Given the description of an element on the screen output the (x, y) to click on. 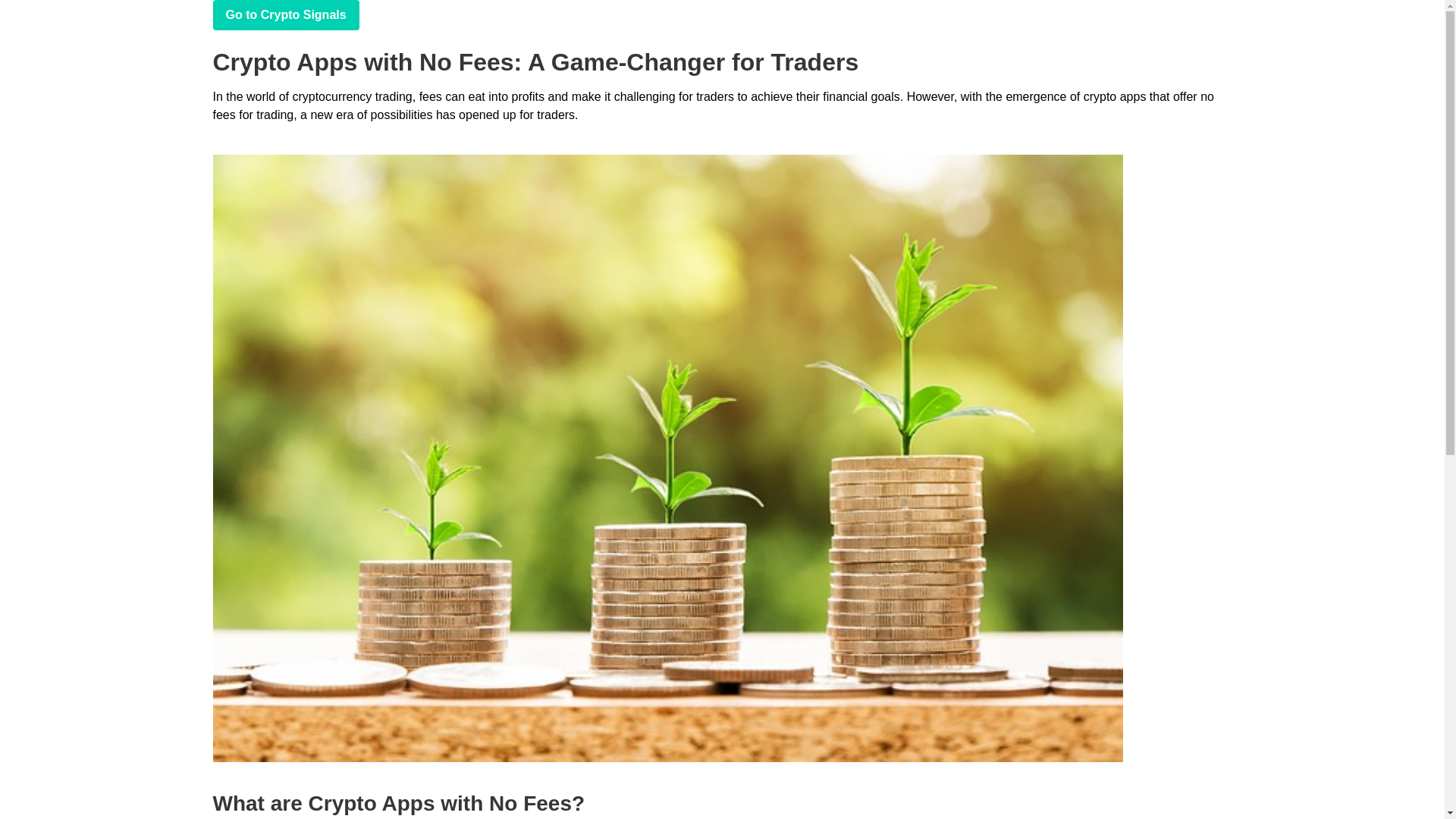
Go to Crypto Signals (285, 15)
play (285, 15)
